Given the description of an element on the screen output the (x, y) to click on. 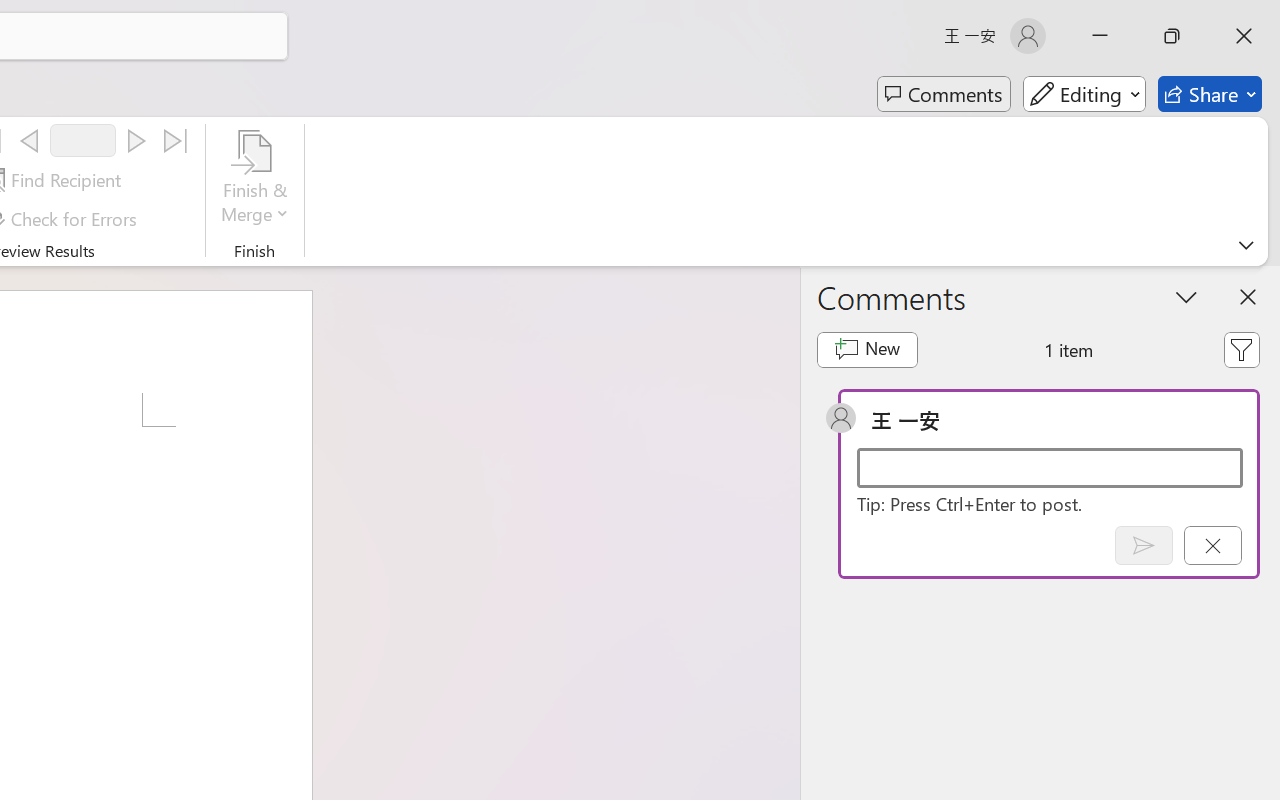
Romanian (1001, 455)
Translator (1260, 245)
Czech (detected) (1039, 250)
